Given the description of an element on the screen output the (x, y) to click on. 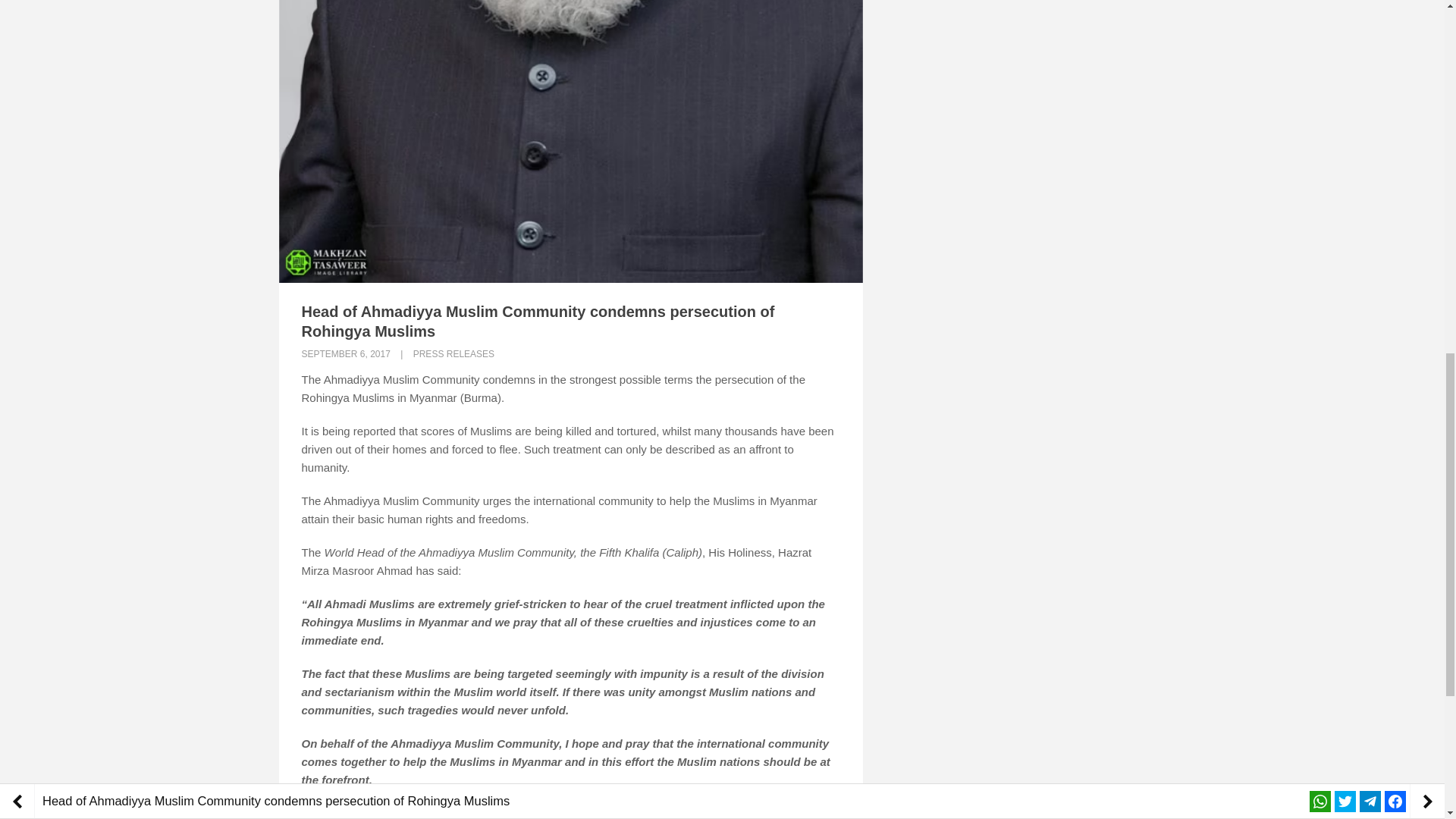
PRESS RELEASES (454, 353)
